Given the description of an element on the screen output the (x, y) to click on. 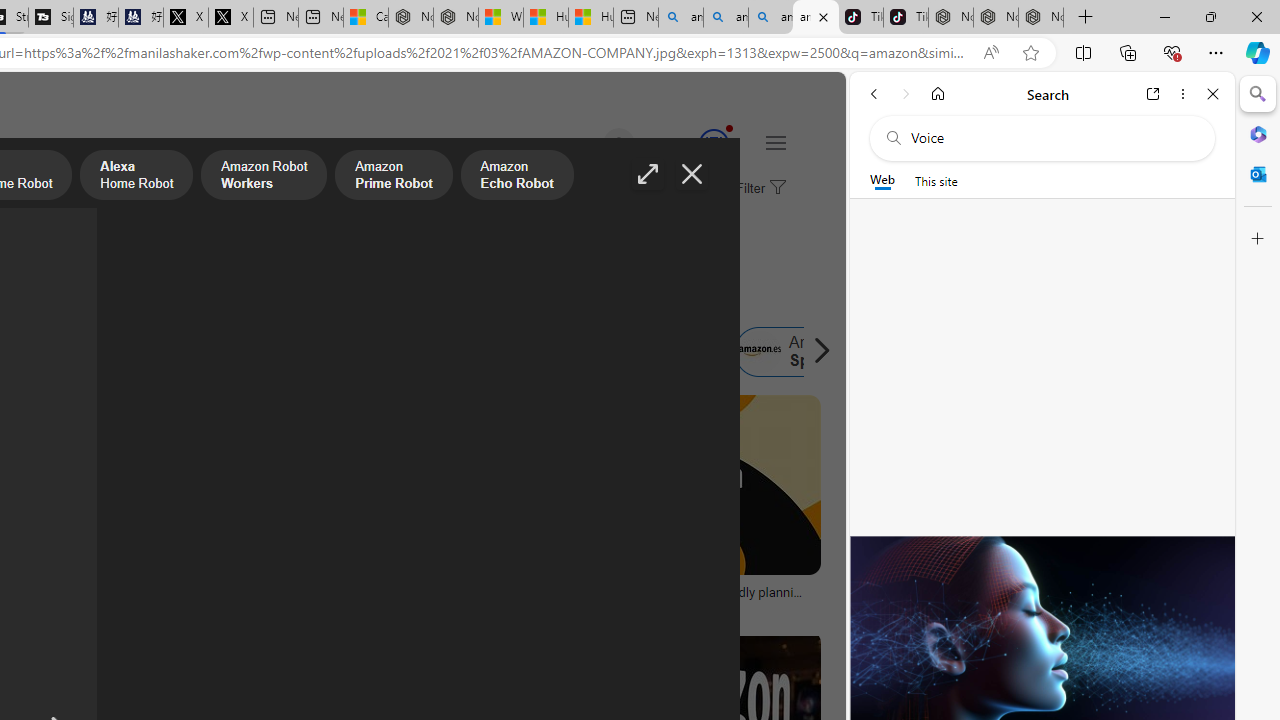
Amazon Prime Membership (128, 351)
logopng.com.br (63, 605)
Amazon Forest (475, 351)
Amazon Spain (759, 351)
Image result for amazon (685, 485)
Amazon Shoes (659, 351)
Microsoft Rewards 135 (690, 143)
Amazon down? Current status and problems | Downdetector (368, 598)
Amazon.com.au (270, 351)
Customize (1258, 239)
